Given the description of an element on the screen output the (x, y) to click on. 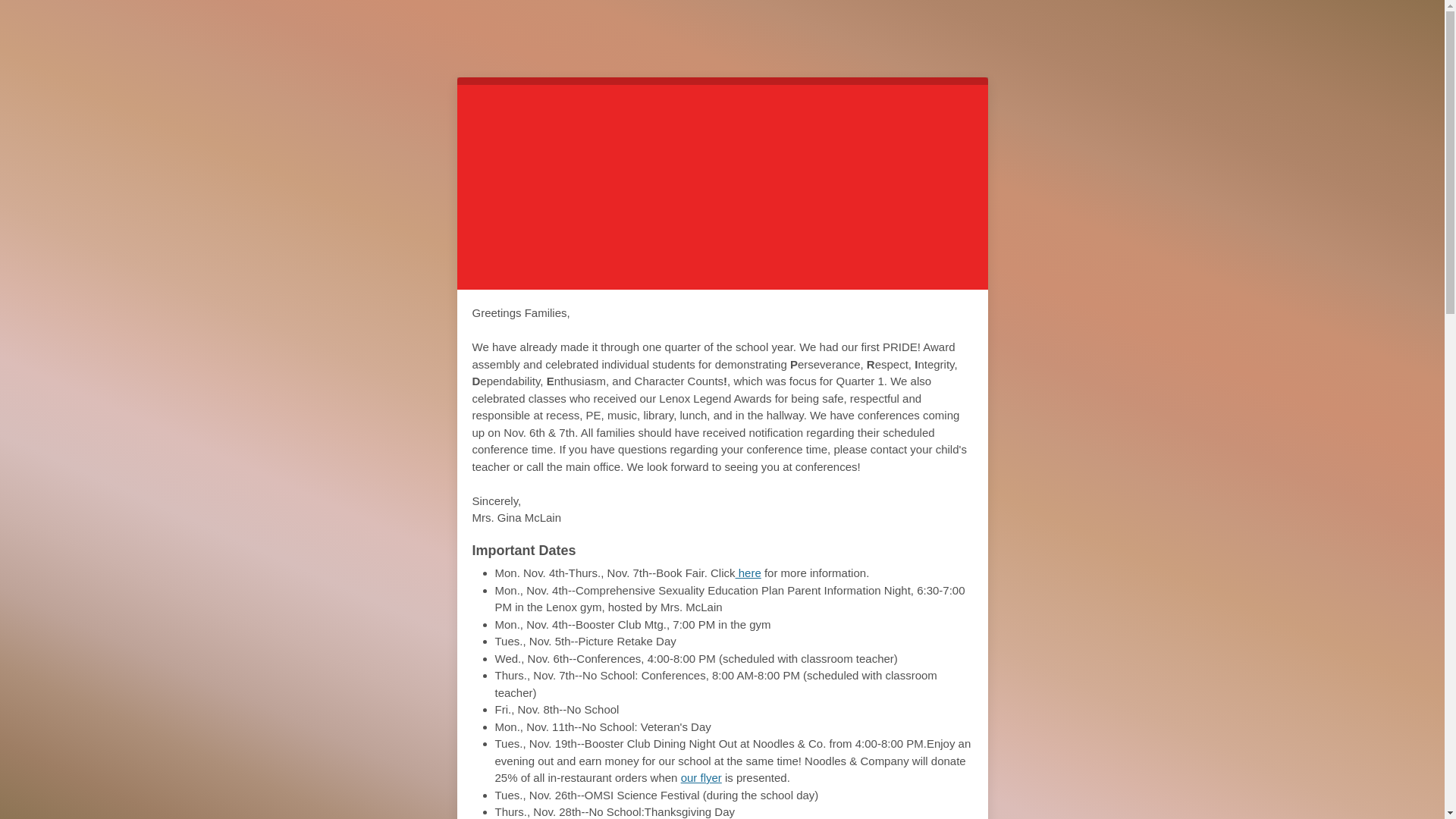
here (748, 572)
our flyer (722, 182)
